Given the description of an element on the screen output the (x, y) to click on. 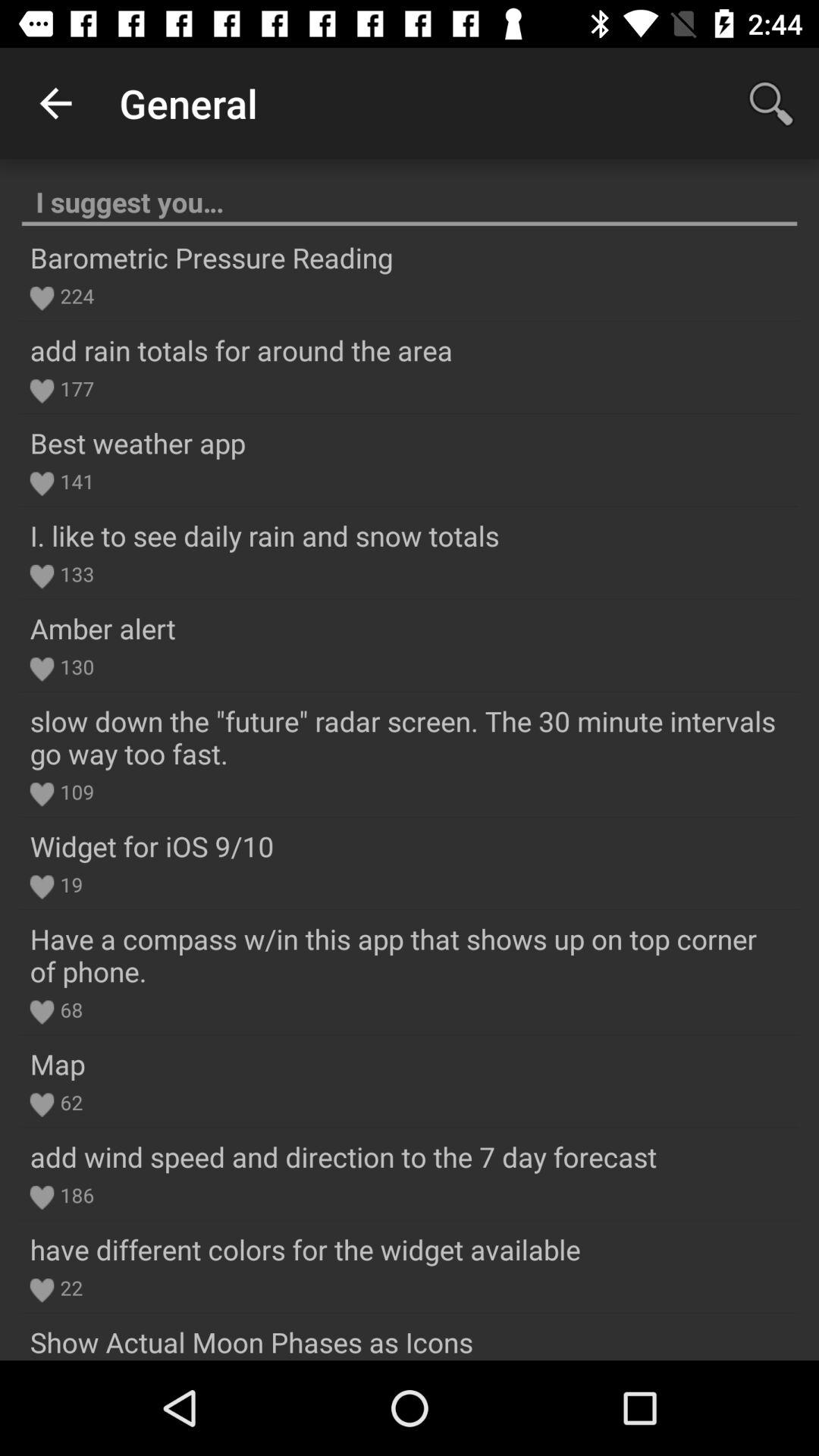
launch the app next to general app (55, 103)
